Given the description of an element on the screen output the (x, y) to click on. 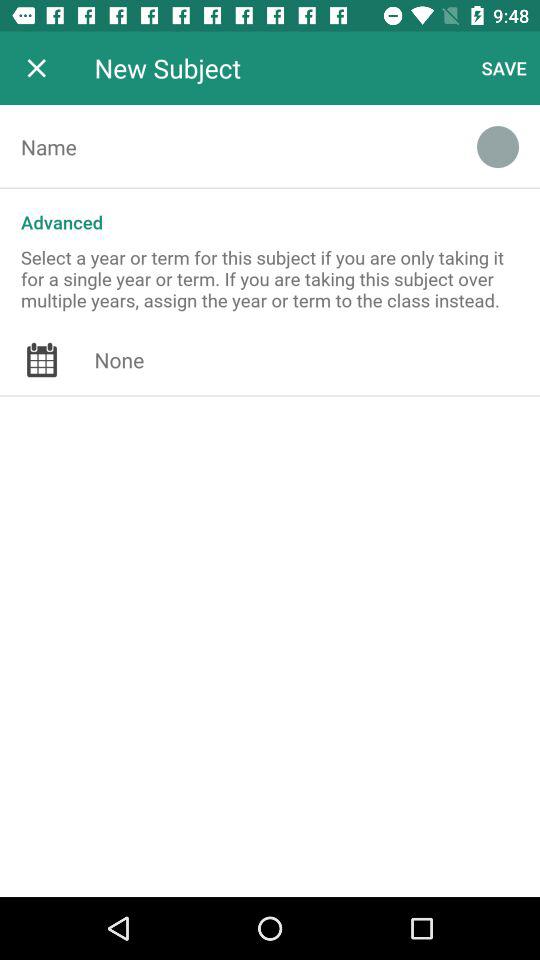
select none (317, 359)
